Given the description of an element on the screen output the (x, y) to click on. 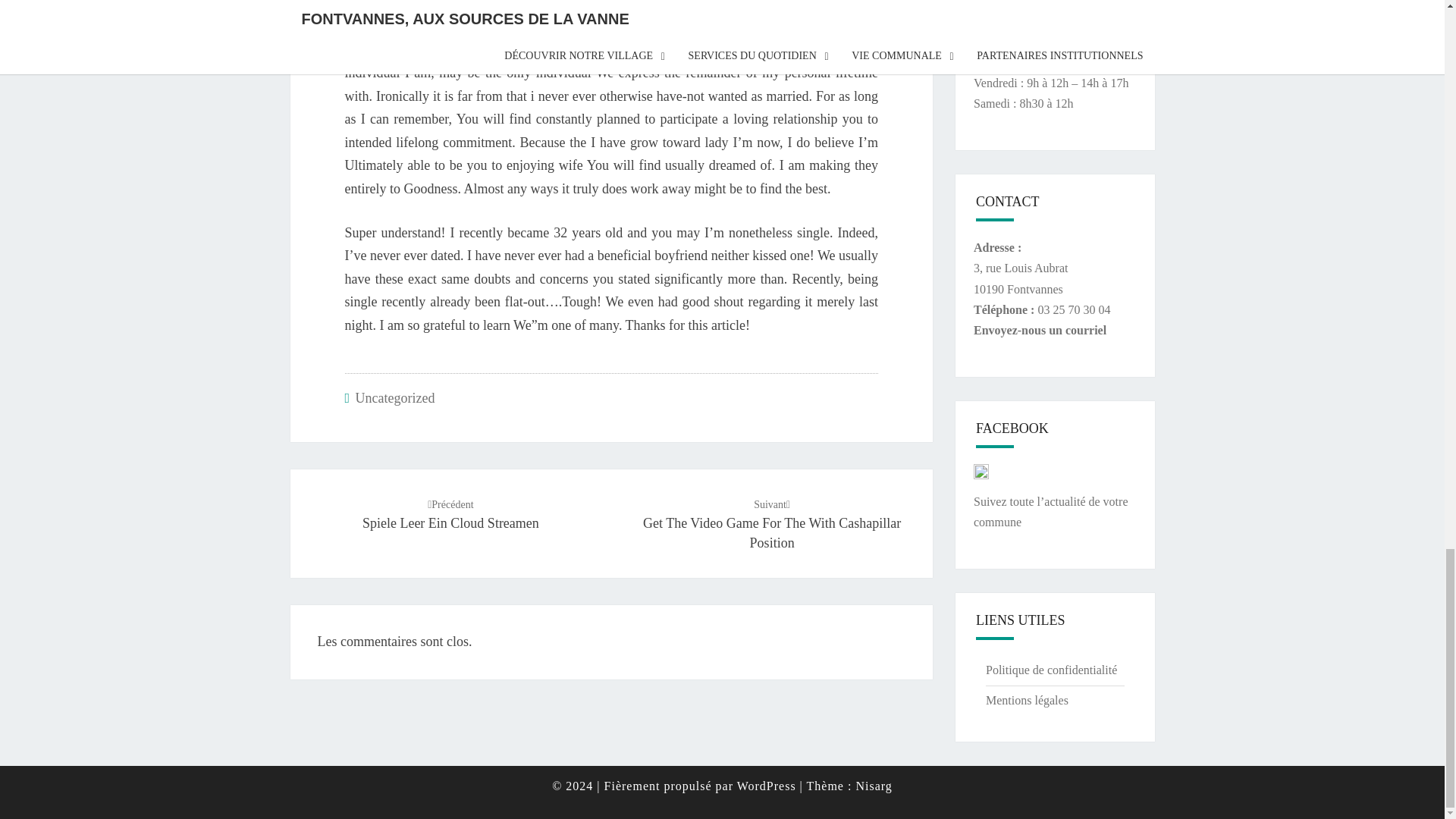
Uncategorized (395, 397)
Nisarg (772, 522)
Envoyez-nous un courriel (873, 785)
WordPress (1040, 329)
